Given the description of an element on the screen output the (x, y) to click on. 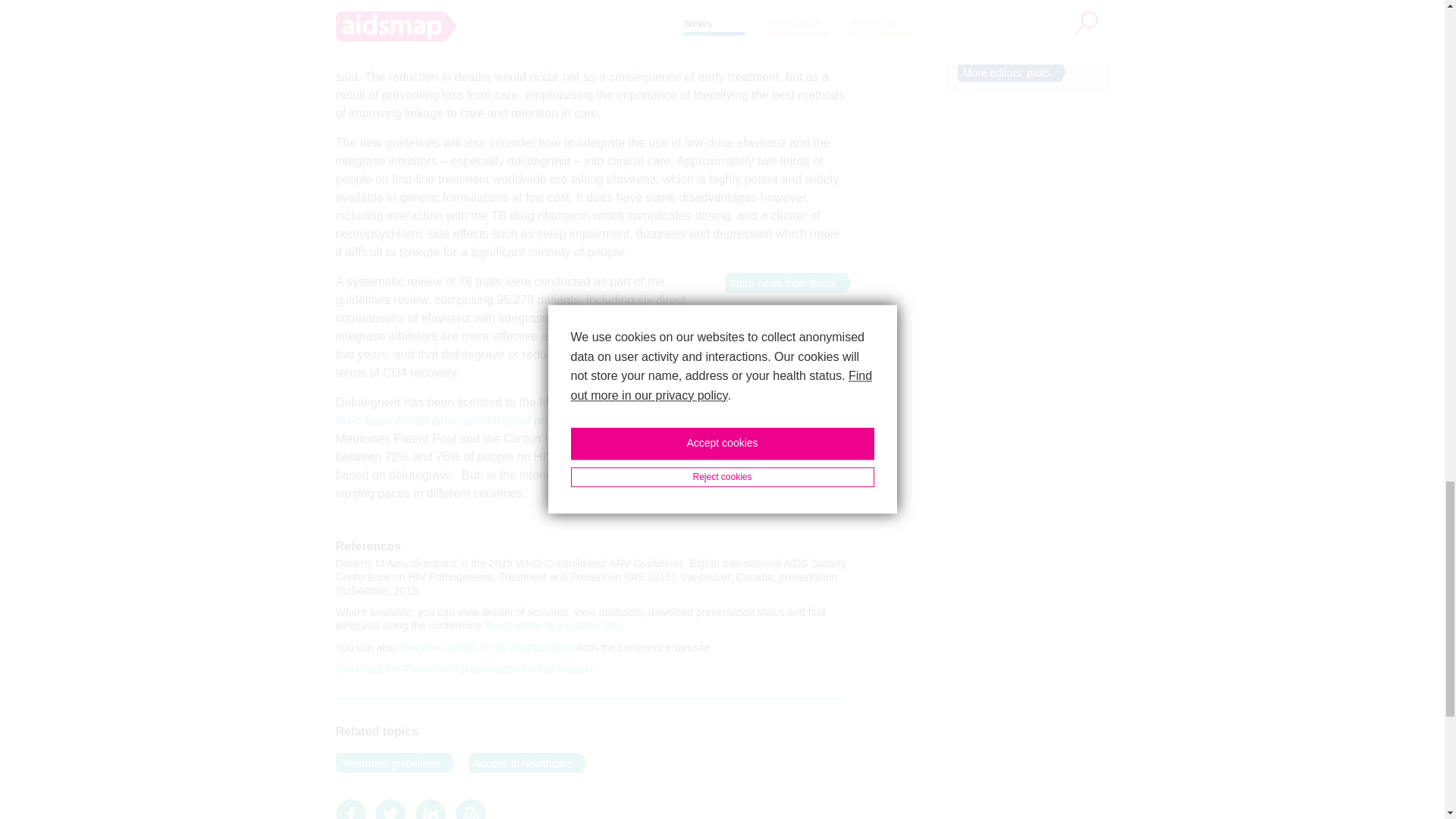
Download the PowerPoint presentation for this session (463, 668)
download a PDF of the abstract book (485, 647)
More news from Brazil (780, 282)
Facebook (349, 812)
LinkedIn (429, 812)
Treatment guidelines (386, 762)
Twitter (390, 812)
Print (470, 812)
Access to healthcare (520, 762)
'Programme at a Glance' tool (552, 625)
